Given the description of an element on the screen output the (x, y) to click on. 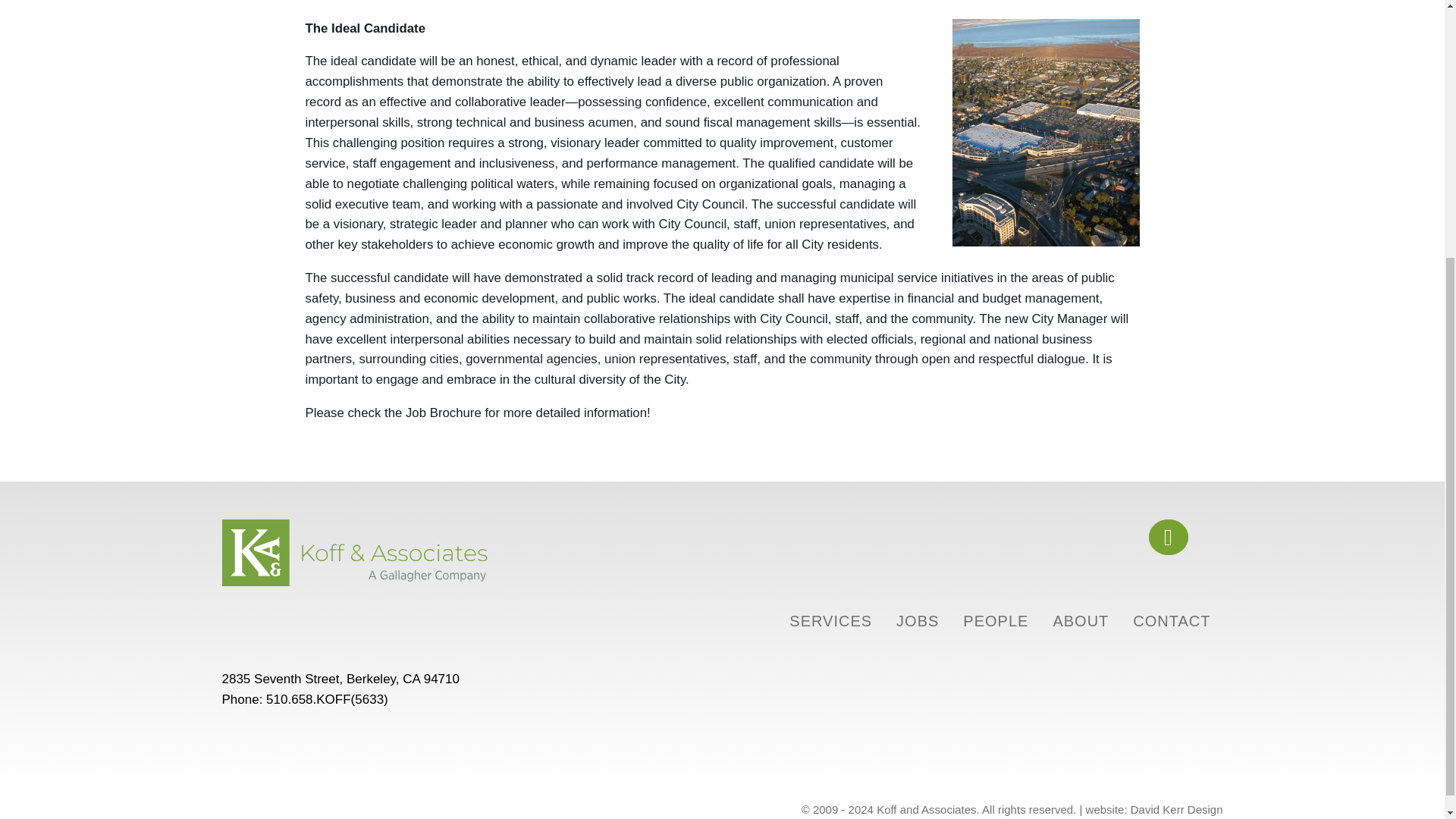
JOBS (916, 619)
website: David Kerr Design (1154, 809)
CONTACT (1170, 619)
ABOUT (1080, 619)
Award-Winning Web Design and Development (1154, 809)
SERVICES (830, 619)
PEOPLE (994, 619)
